Given the description of an element on the screen output the (x, y) to click on. 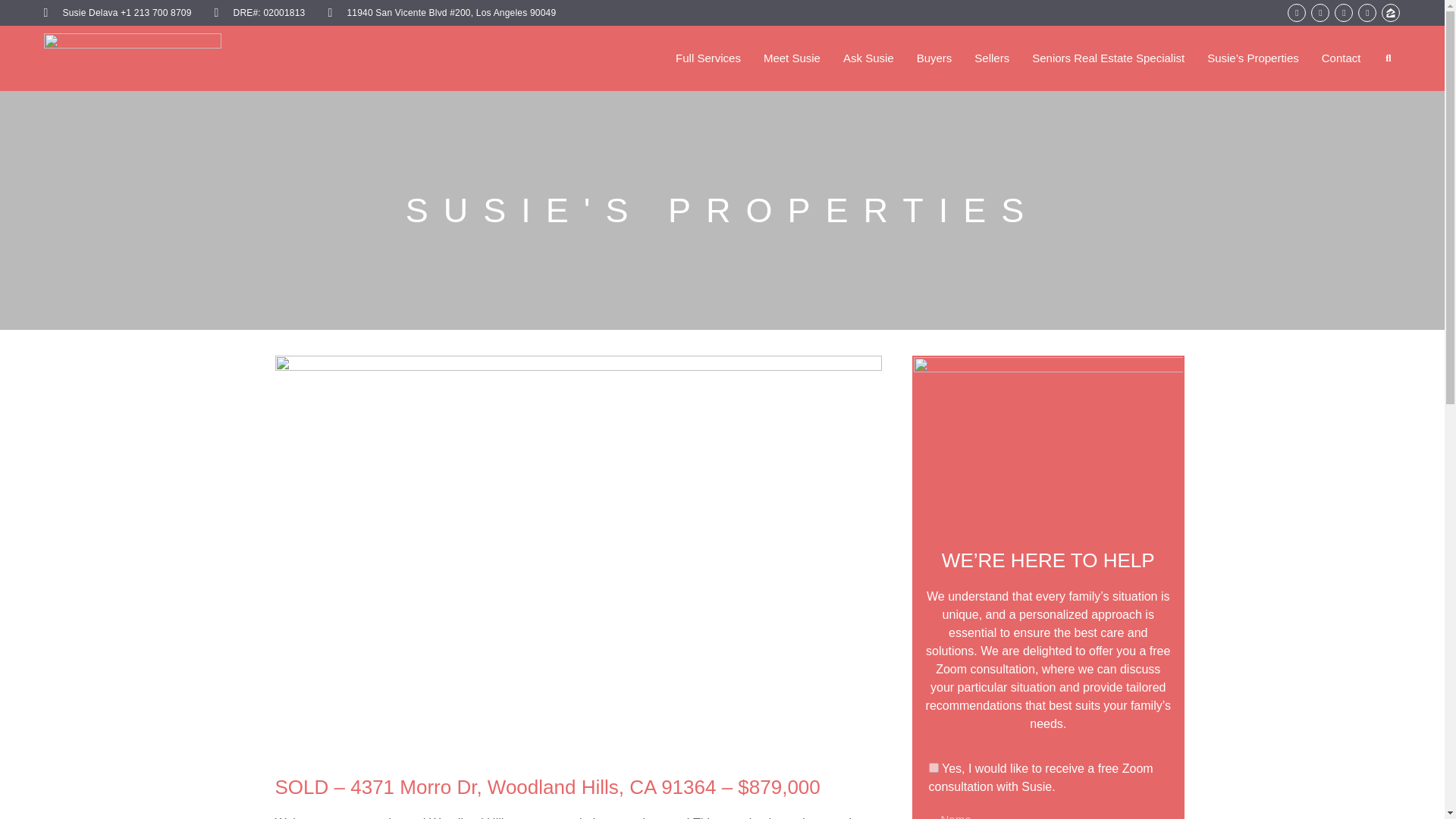
Seniors Real Estate Specialist (1108, 58)
Sellers (991, 58)
Ask Susie (868, 58)
Full Services (708, 58)
Buyers (934, 58)
Contact (1341, 58)
Meet Susie (791, 58)
